Given the description of an element on the screen output the (x, y) to click on. 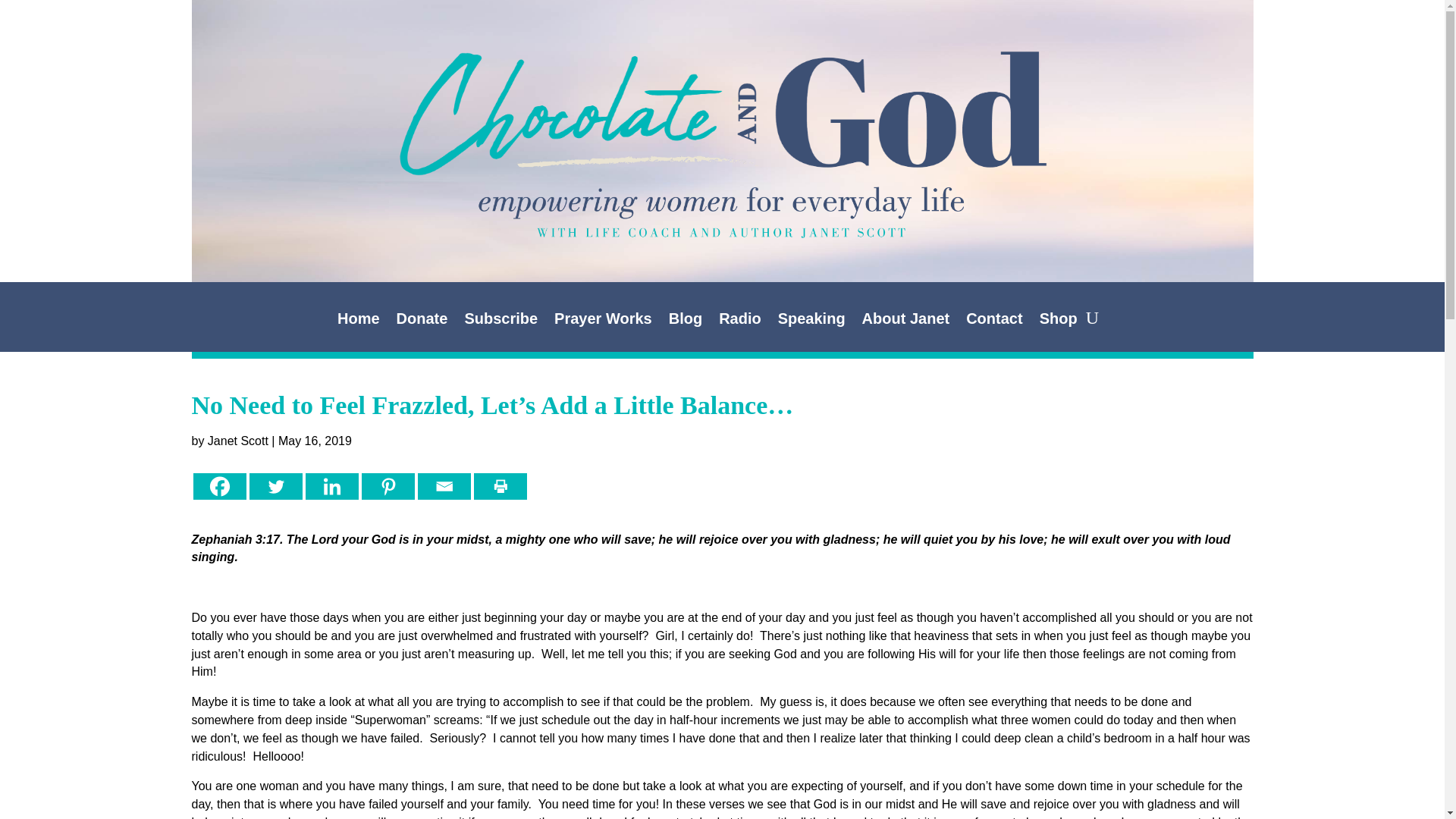
tagline (722, 212)
Donate (422, 321)
Subscribe (500, 321)
Shop (1058, 321)
Contact (994, 321)
Print (499, 486)
Twitter (274, 486)
Radio (740, 321)
Home (358, 321)
Prayer Works (603, 321)
